Given the description of an element on the screen output the (x, y) to click on. 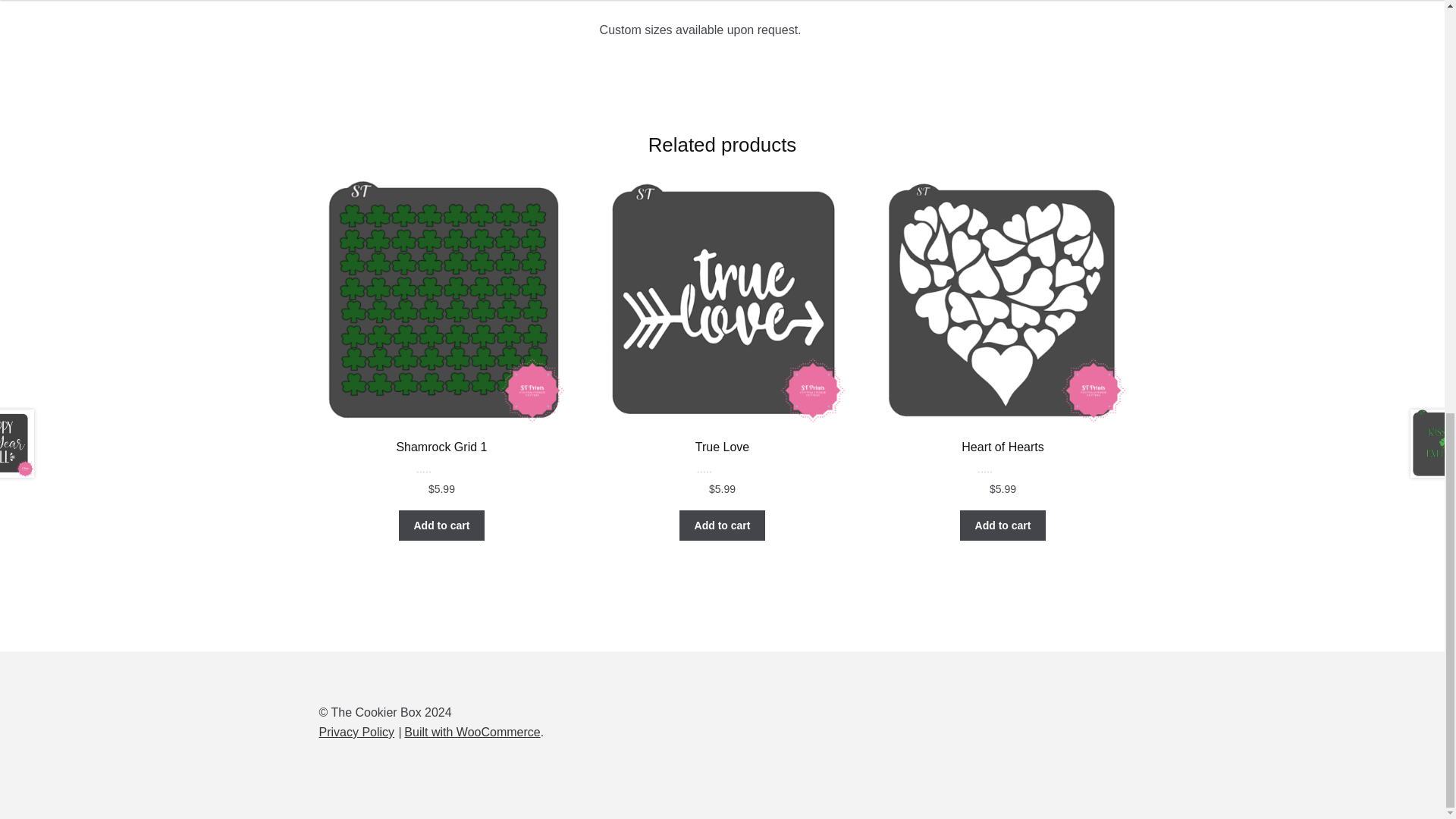
Add to cart (441, 525)
Add to cart (722, 525)
WooCommerce - The Best eCommerce Platform for WordPress (472, 731)
